Given the description of an element on the screen output the (x, y) to click on. 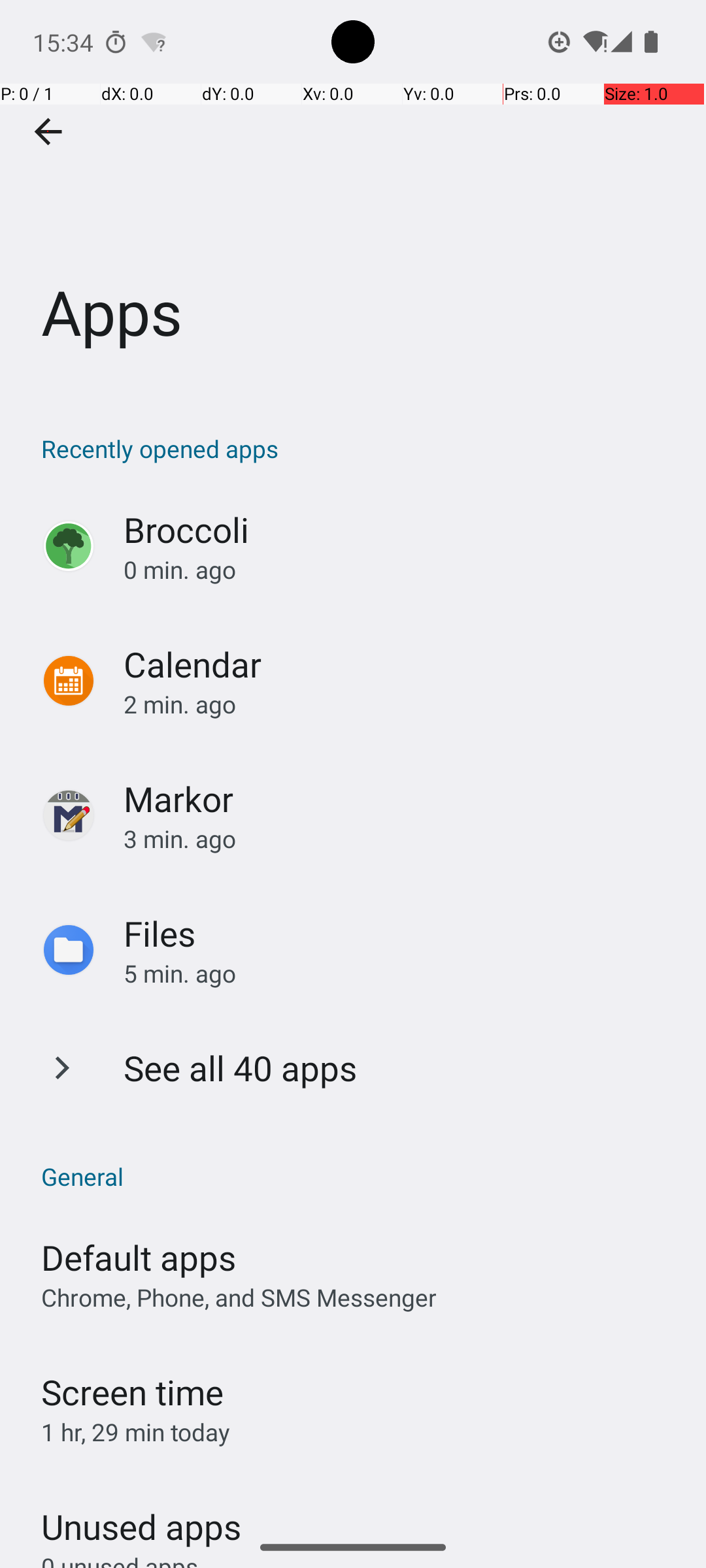
5 min. ago Element type: android.widget.TextView (400, 972)
See all 40 apps Element type: android.widget.TextView (239, 1067)
1 hr, 29 min today Element type: android.widget.TextView (135, 1431)
